Given the description of an element on the screen output the (x, y) to click on. 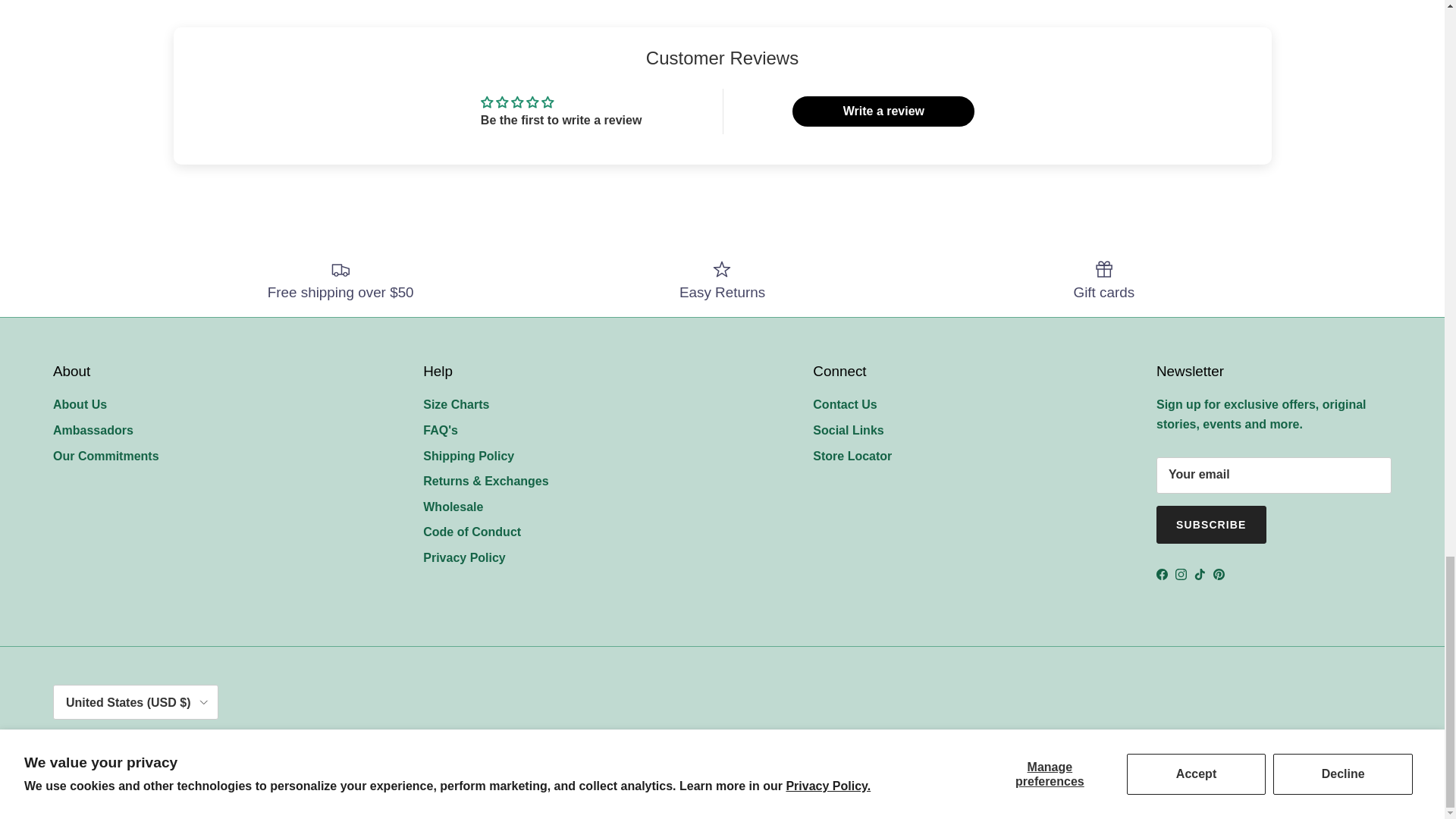
Slow Loris on TikTok (1199, 573)
Slow Loris on Facebook (1161, 573)
Slow Loris on Instagram (1180, 573)
Slow Loris on Pinterest (1218, 573)
